Given the description of an element on the screen output the (x, y) to click on. 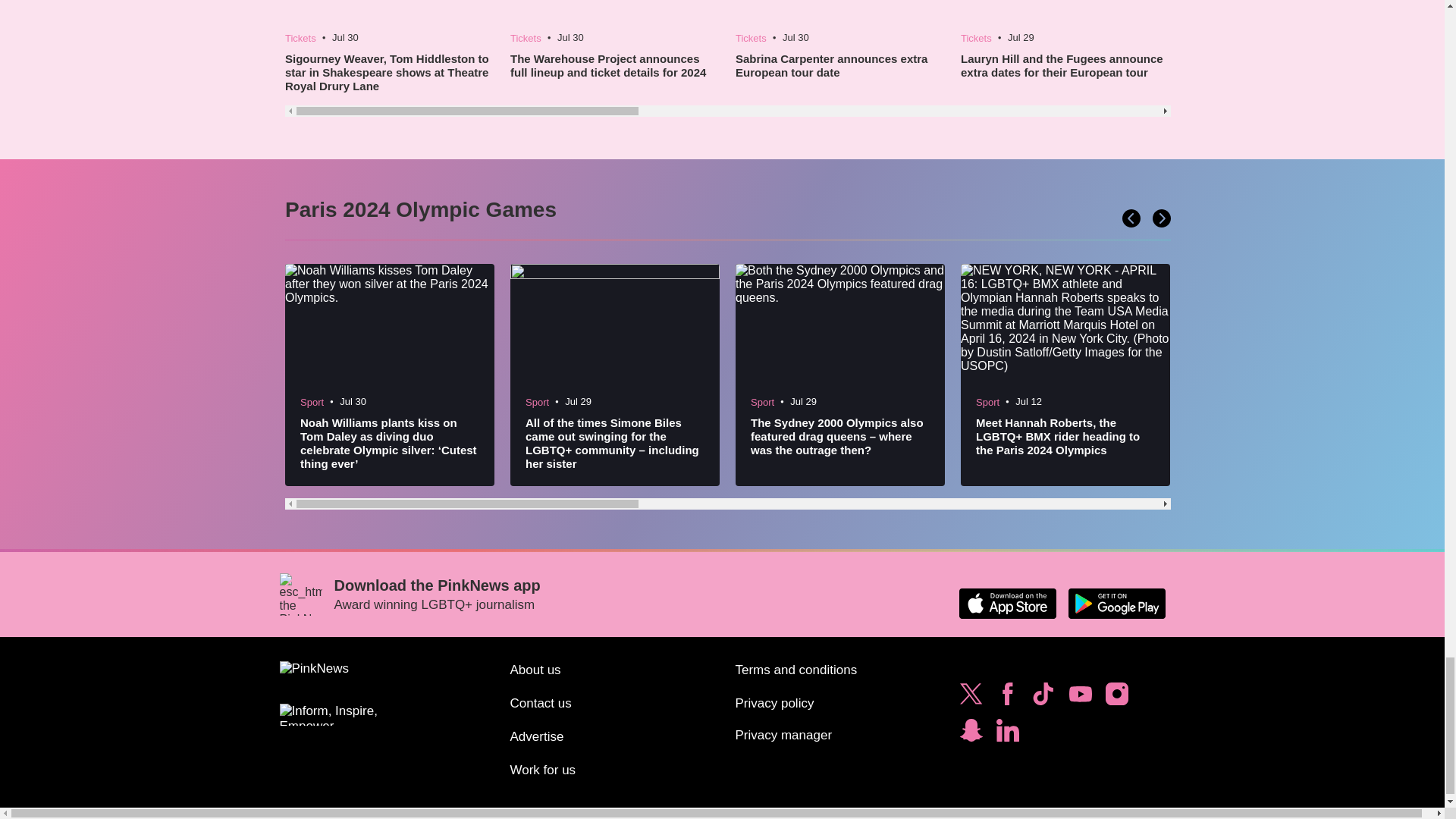
Follow PinkNews on Twitter (970, 697)
Subscribe to PinkNews on YouTube (1079, 697)
Download the PinkNews app on Google Play (1115, 603)
Follow PinkNews on Instagram (1116, 697)
Download the PinkNews app on the Apple App Store (1006, 603)
Follow PinkNews on TikTok (1042, 697)
Follow PinkNews on LinkedIn (1007, 733)
Subscribe to PinkNews on Snapchat (970, 733)
